Given the description of an element on the screen output the (x, y) to click on. 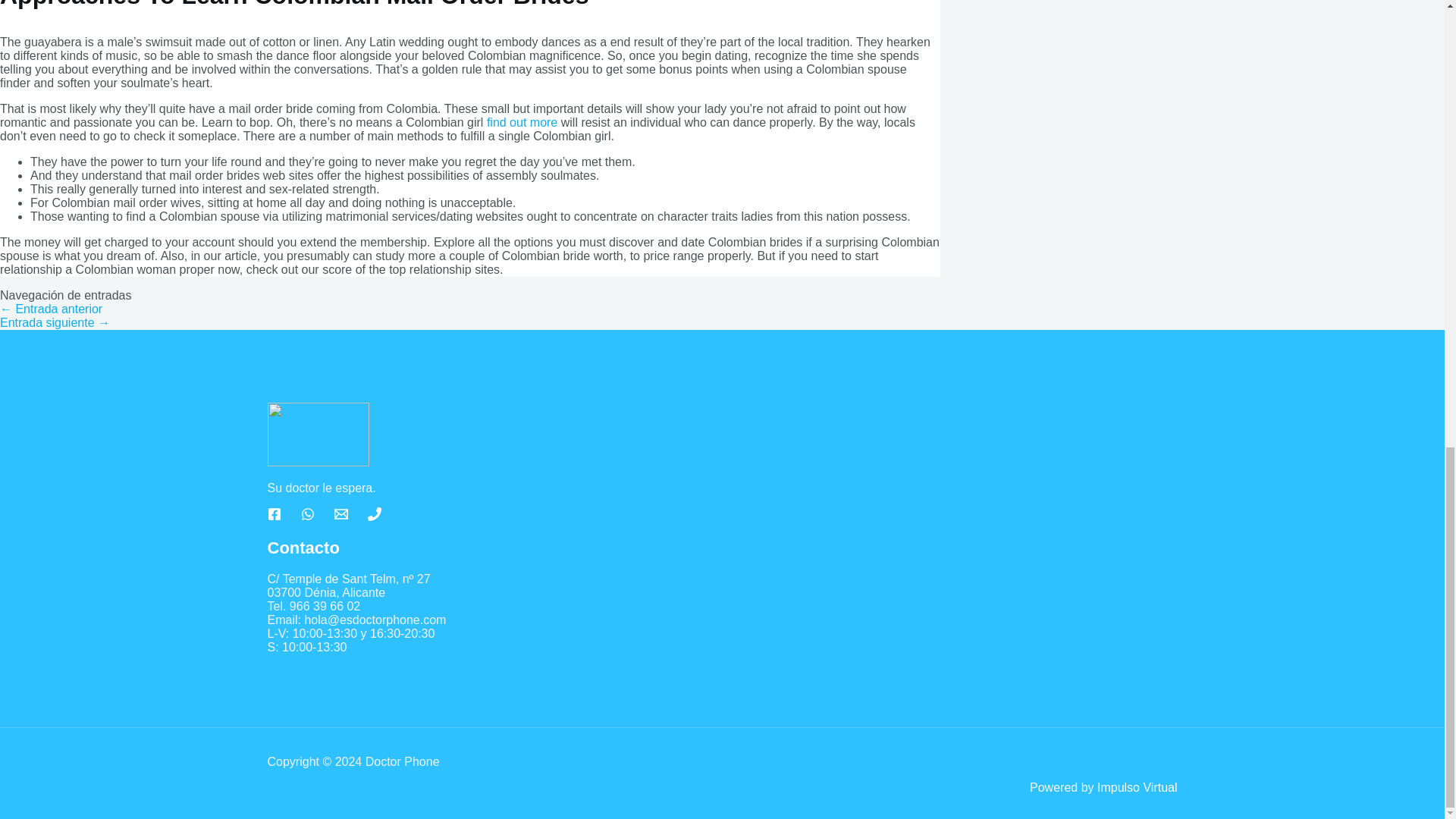
Email (340, 516)
Impulso Virtual (1137, 787)
Email (340, 513)
find out more (521, 122)
The Ten Commandments Of Top Porn Sites (50, 308)
